Given the description of an element on the screen output the (x, y) to click on. 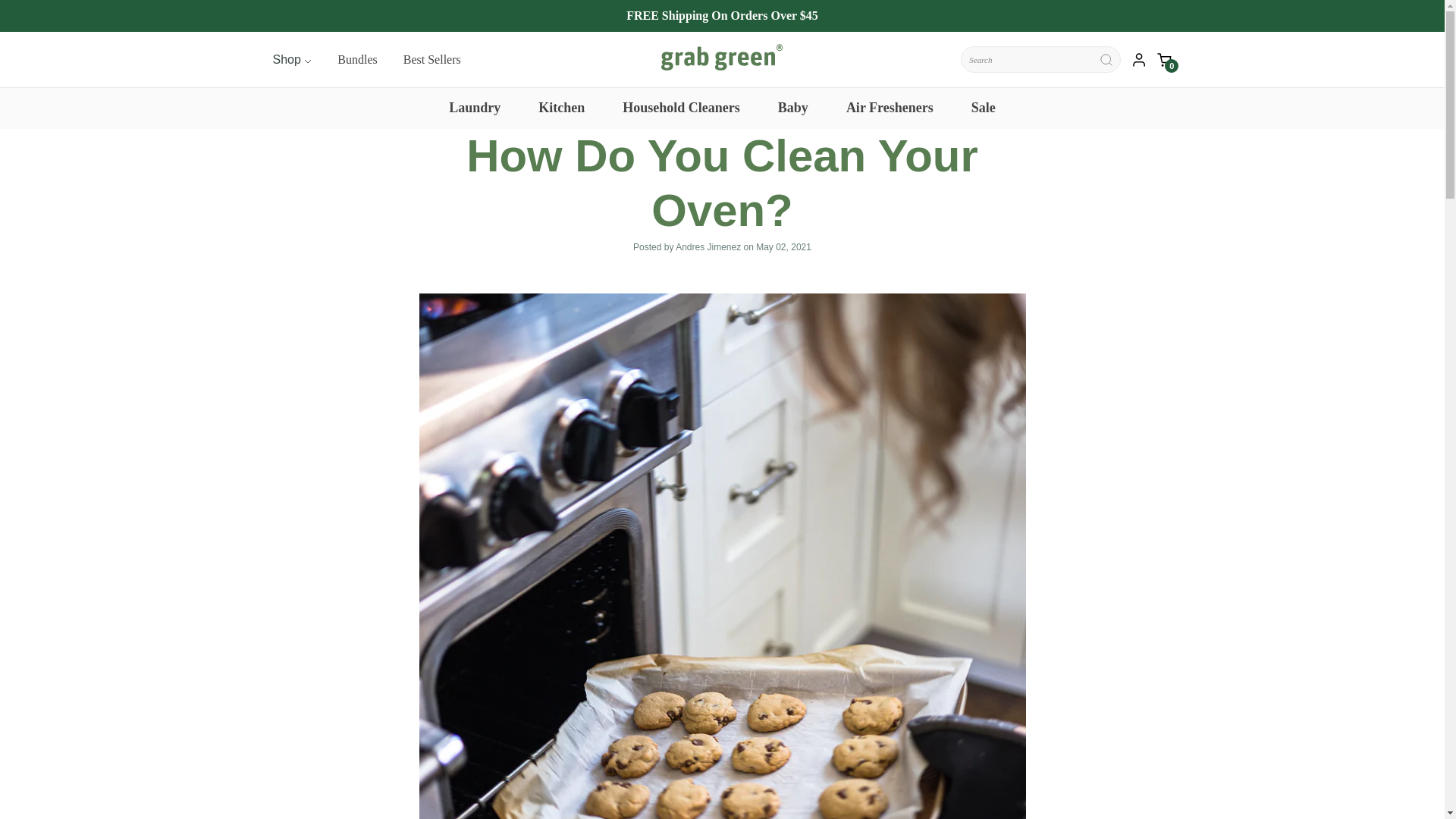
Best Sellers (432, 58)
0 (1164, 59)
Household Cleaners (681, 107)
Bundles (357, 58)
Air Fresheners (889, 107)
Laundry (474, 107)
Baby (792, 107)
Sale (983, 107)
Kitchen (561, 107)
